Given the description of an element on the screen output the (x, y) to click on. 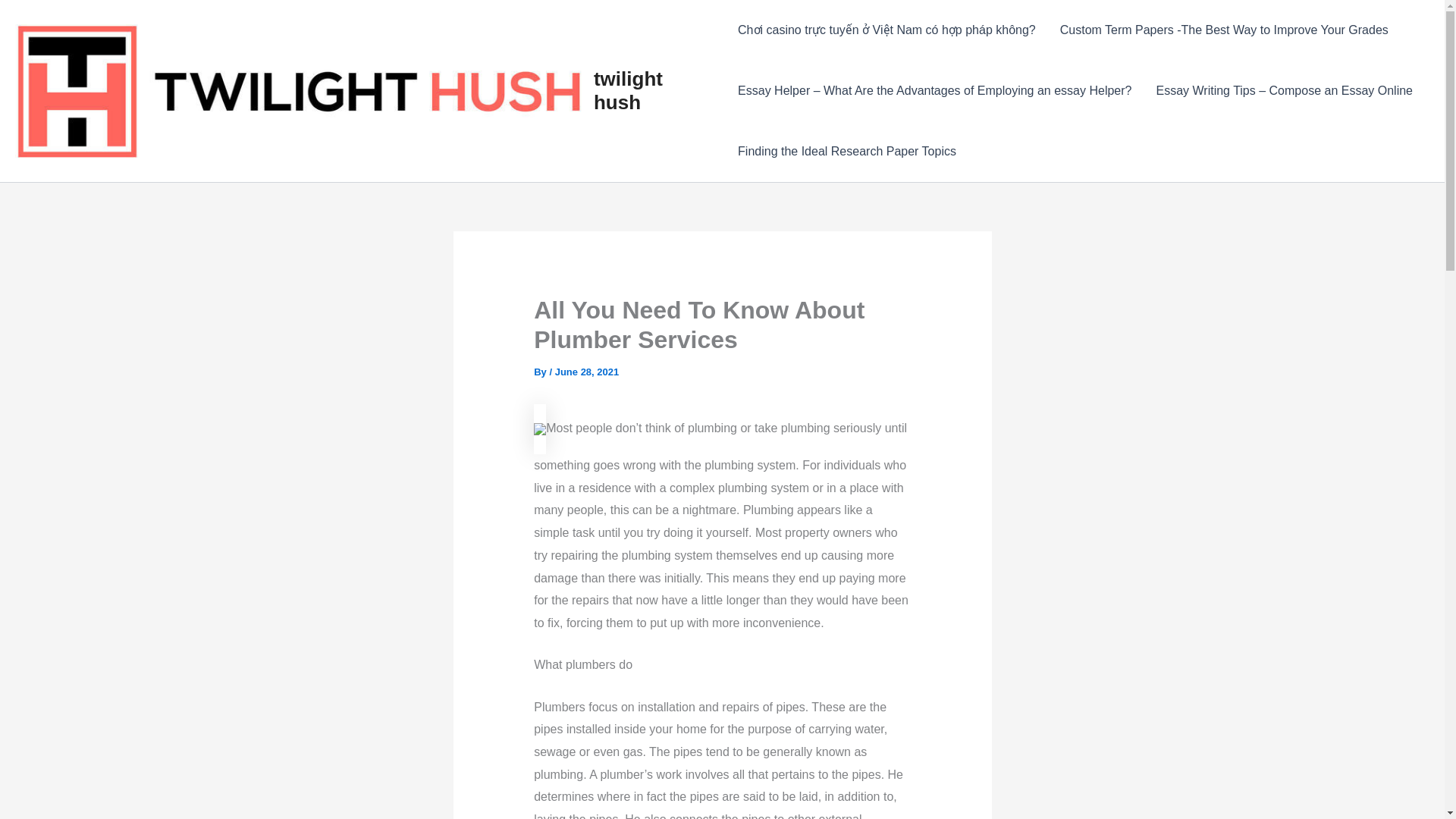
twilight hush (628, 90)
Custom Term Papers -The Best Way to Improve Your Grades (1224, 30)
Finding the Ideal Research Paper Topics (846, 151)
